Given the description of an element on the screen output the (x, y) to click on. 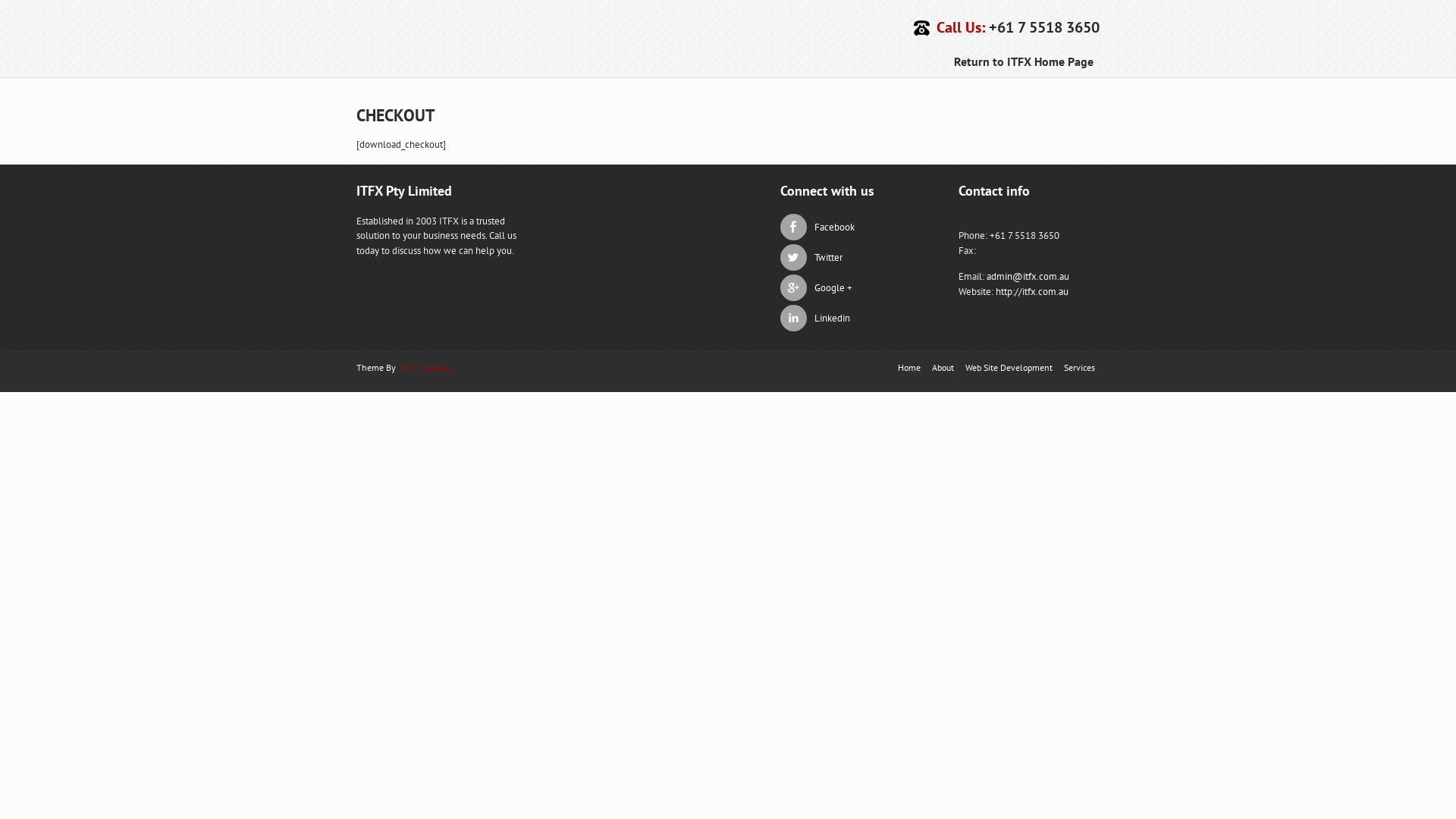
Services Element type: text (1079, 366)
Home Element type: text (909, 366)
Facebook Element type: text (846, 226)
Web Site Development Element type: text (1008, 366)
http://itfx.com.au Element type: text (1031, 291)
Twitter Element type: text (846, 257)
SKT Themes Element type: text (424, 366)
Linkedin Element type: text (846, 317)
Return to ITFX Home Page Element type: text (1023, 61)
Google + Element type: text (846, 287)
admin@itfx.com.au Element type: text (1027, 275)
About Element type: text (942, 366)
